Given the description of an element on the screen output the (x, y) to click on. 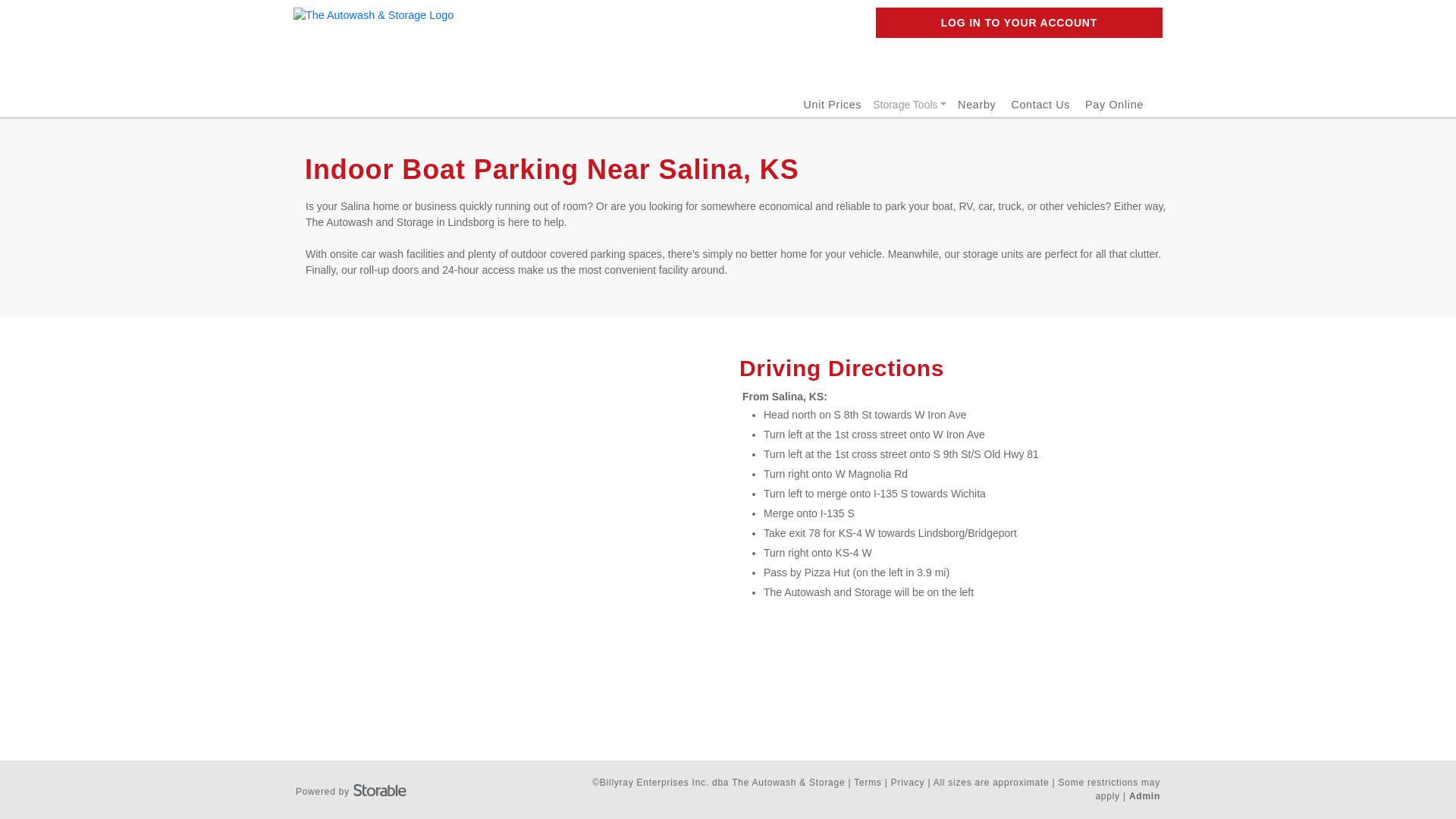
Storage Tools (909, 105)
Nearby (976, 104)
Admin (1144, 796)
Terms (866, 782)
Pay Online (1113, 104)
LOG IN TO YOUR ACCOUNT (1018, 22)
Unit Prices (832, 104)
Privacy (907, 782)
Powered by (350, 788)
Contact Us (1040, 104)
